Given the description of an element on the screen output the (x, y) to click on. 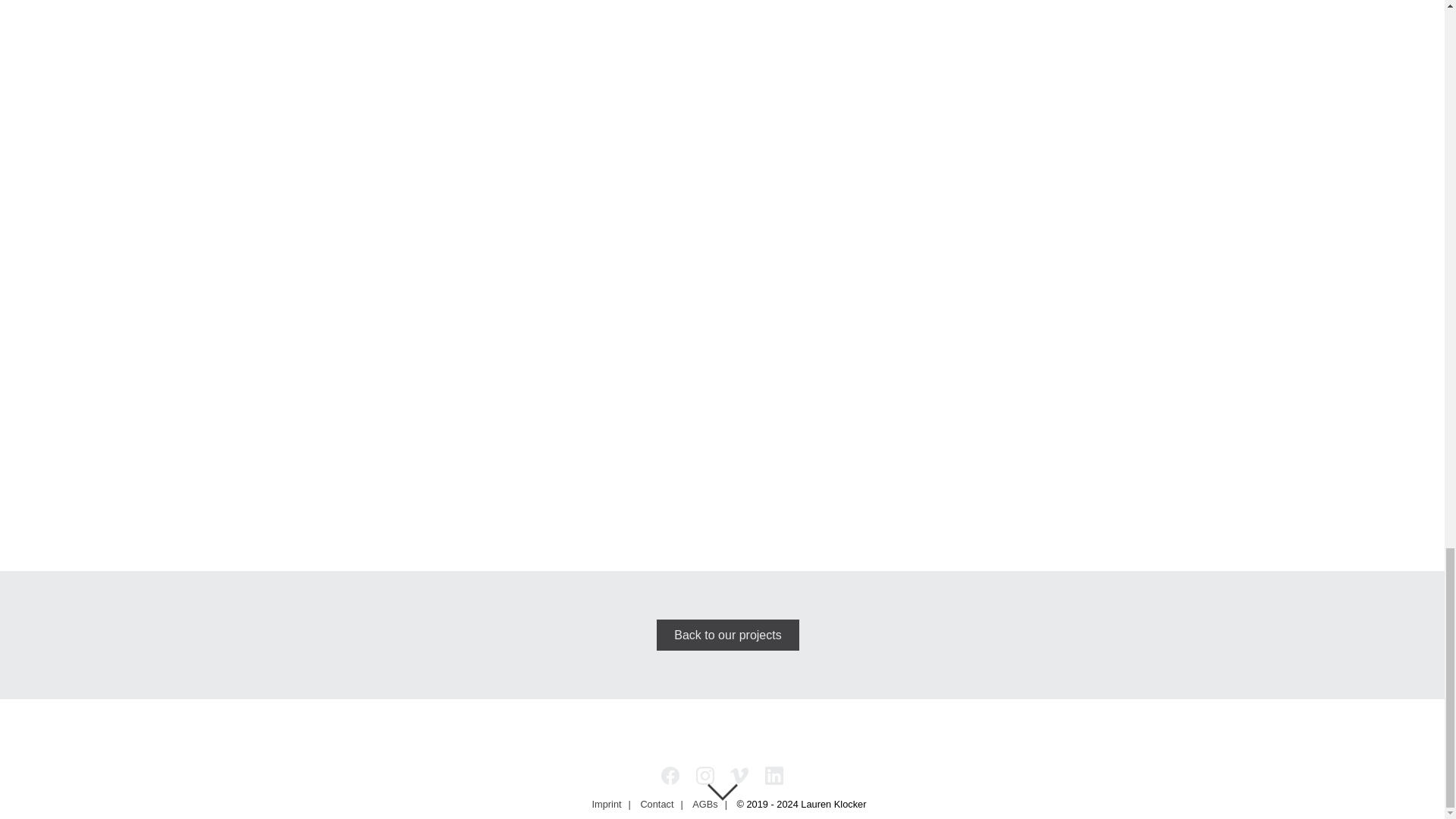
Back to our projects (727, 634)
Imprint (606, 804)
Contact (656, 804)
AGBs (704, 804)
